Given the description of an element on the screen output the (x, y) to click on. 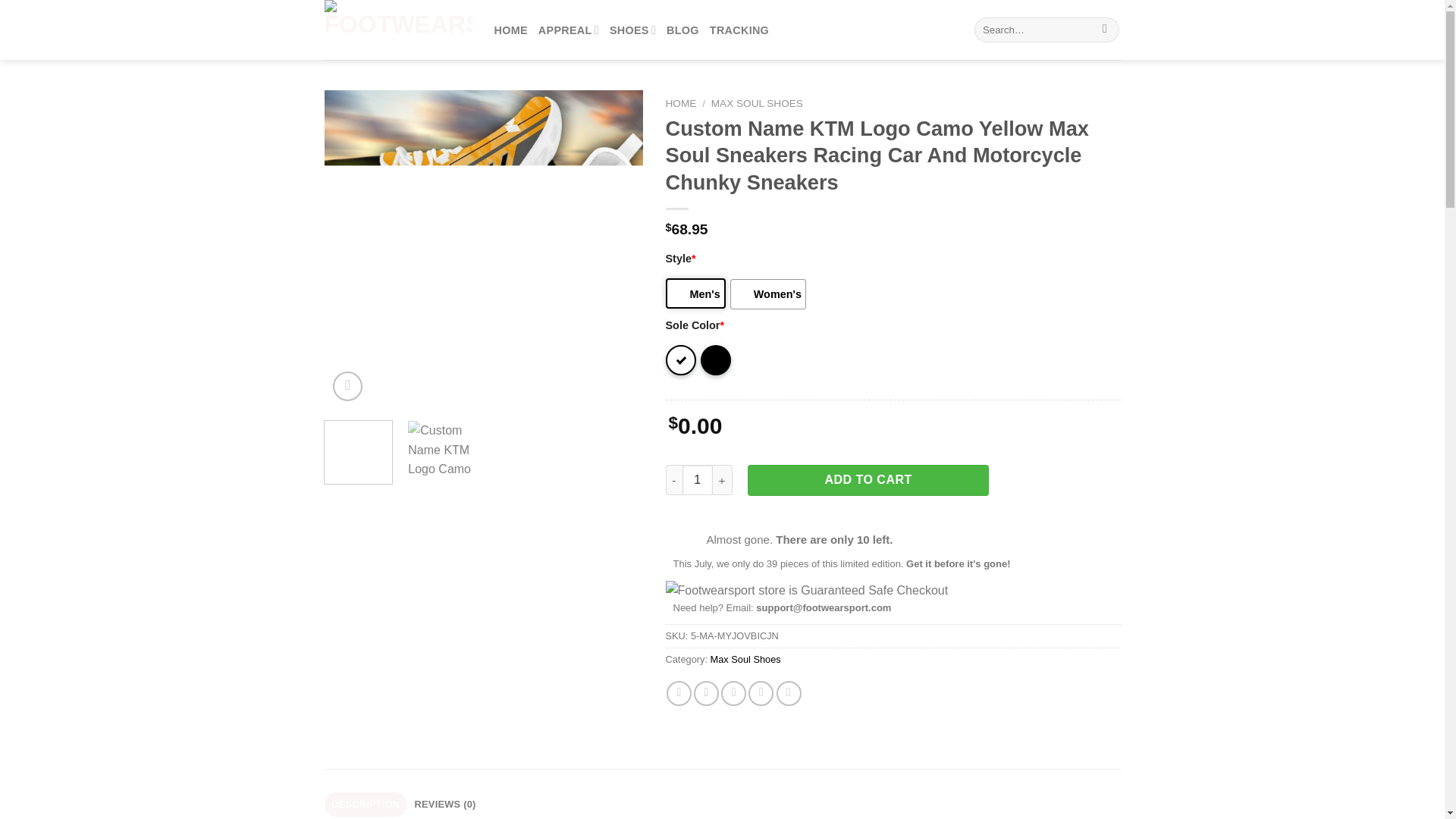
Footwearsport (397, 29)
SHOES (633, 30)
TRACKING (739, 30)
Search (1105, 30)
Women's (768, 294)
Zoom (347, 386)
Max Soul Shoes (745, 659)
White Sole (680, 359)
1 (697, 480)
Black Sole (715, 359)
HOME (681, 102)
HOME (511, 30)
Men's (695, 293)
ADD TO CART (868, 480)
- (673, 480)
